Given the description of an element on the screen output the (x, y) to click on. 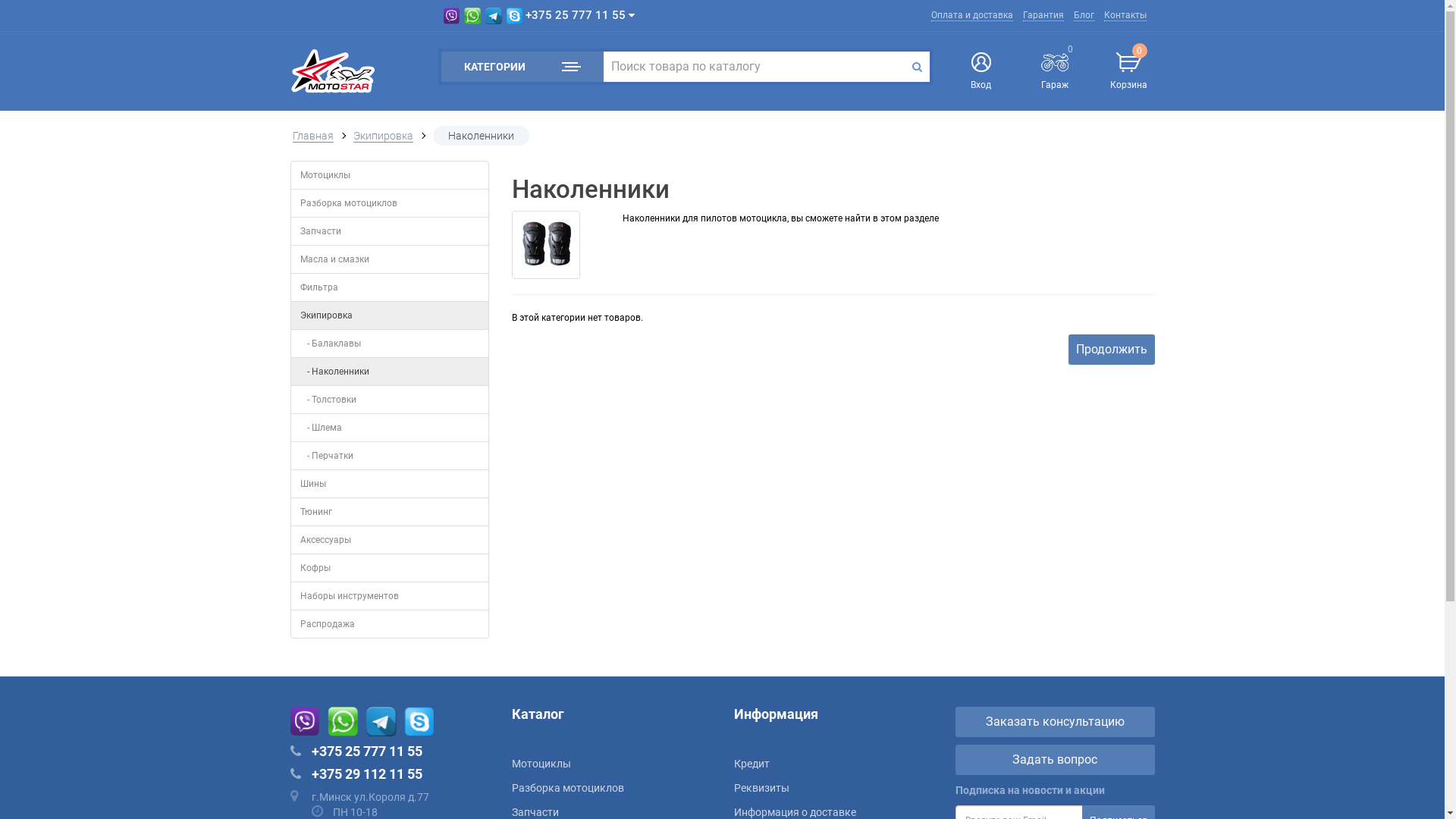
+375 25 777 11 55 Element type: text (538, 15)
MOTOSTAR Element type: hover (332, 71)
